Given the description of an element on the screen output the (x, y) to click on. 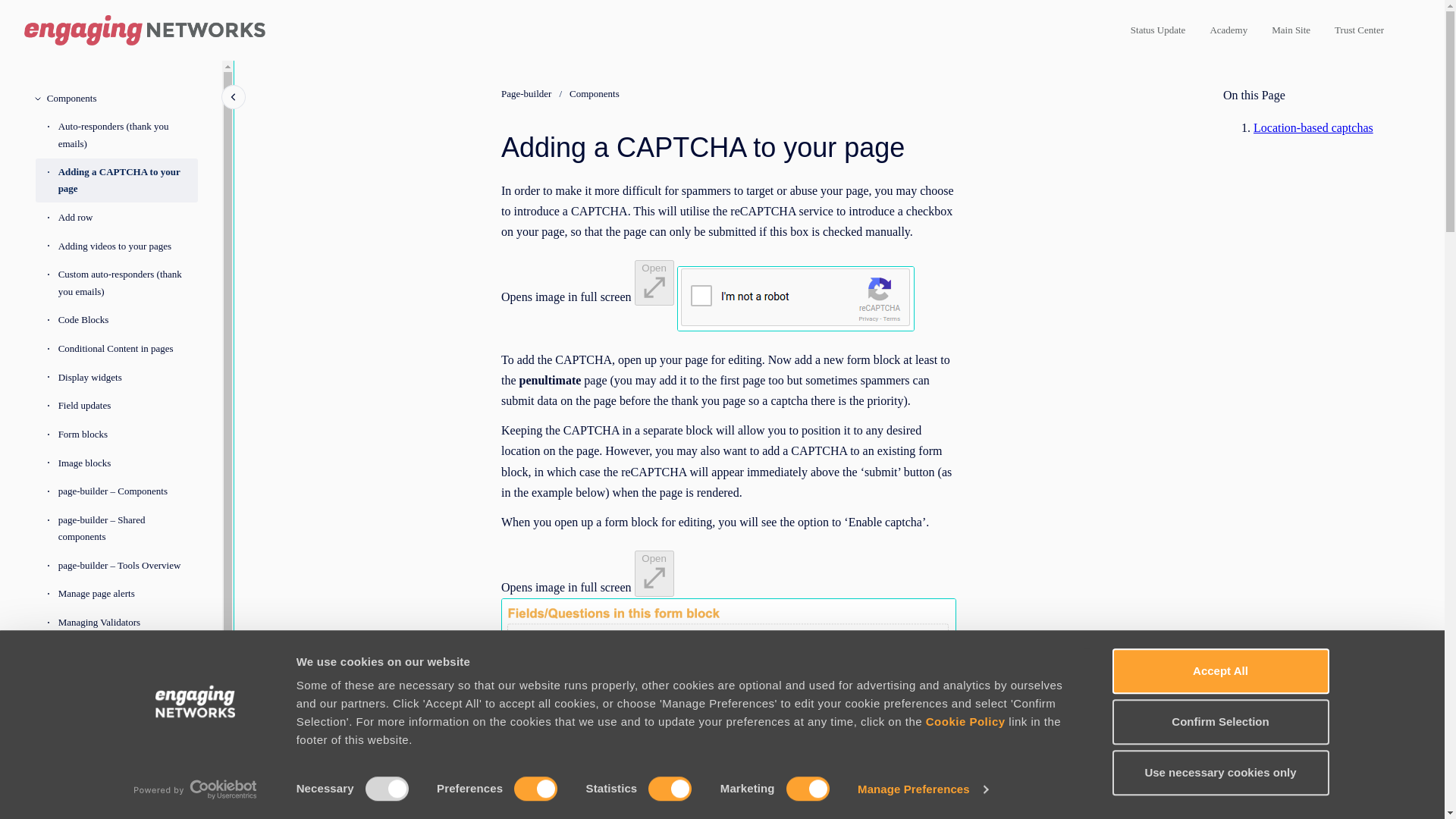
Cookie Policy (966, 721)
Manage Preferences (922, 789)
